Given the description of an element on the screen output the (x, y) to click on. 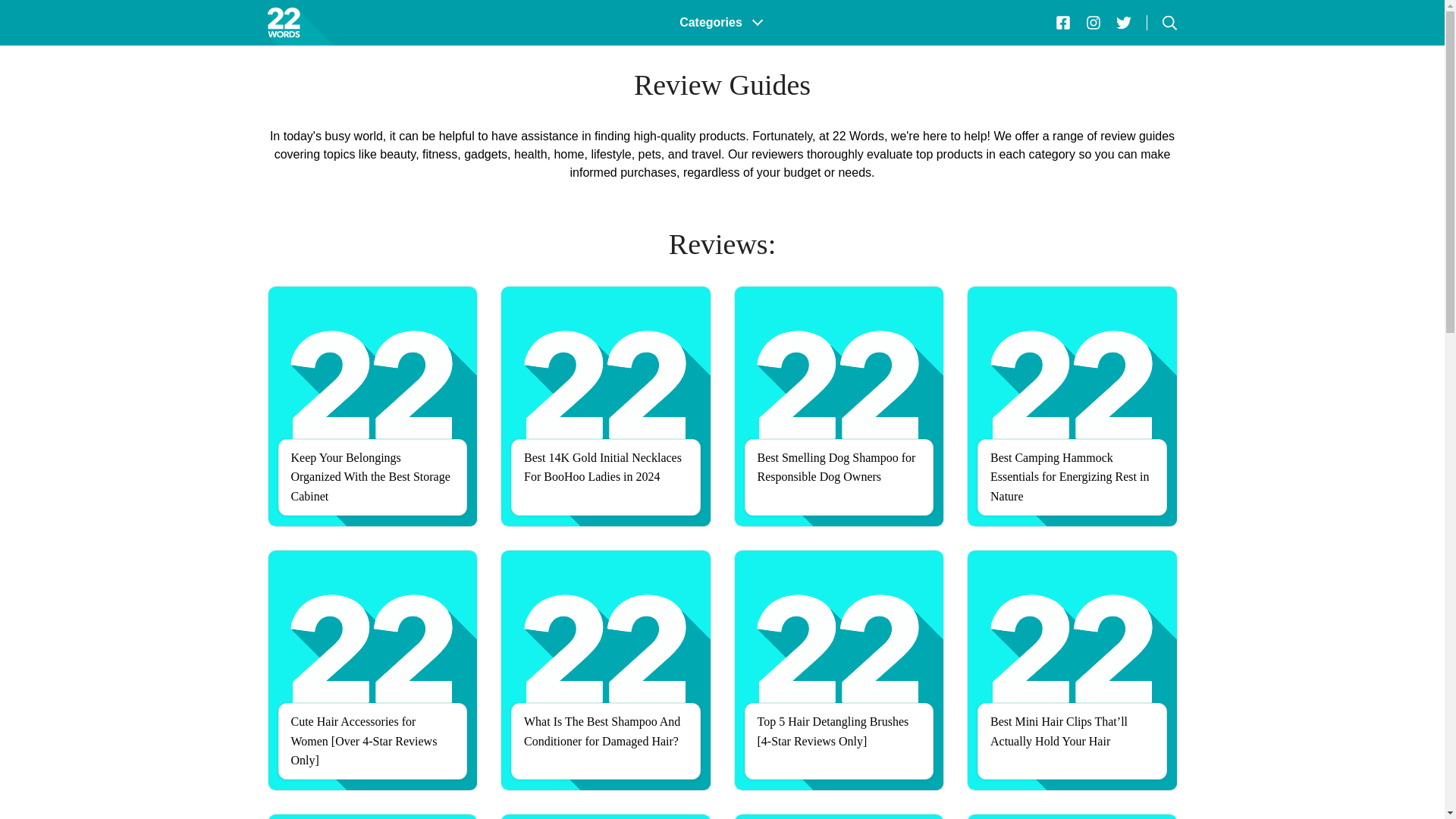
Best 14K Gold Initial Necklaces For BooHoo Ladies in 2024 (605, 406)
Best Smelling Dog Shampoo for Responsible Dog Owners (838, 406)
What Is The Best Shampoo And Conditioner for Damaged Hair? (605, 670)
Keep Your Belongings Organized With the Best Storage Cabinet (371, 406)
Best Travel Toiletry Bags of 2024 (1071, 816)
22 Words (315, 22)
